Given the description of an element on the screen output the (x, y) to click on. 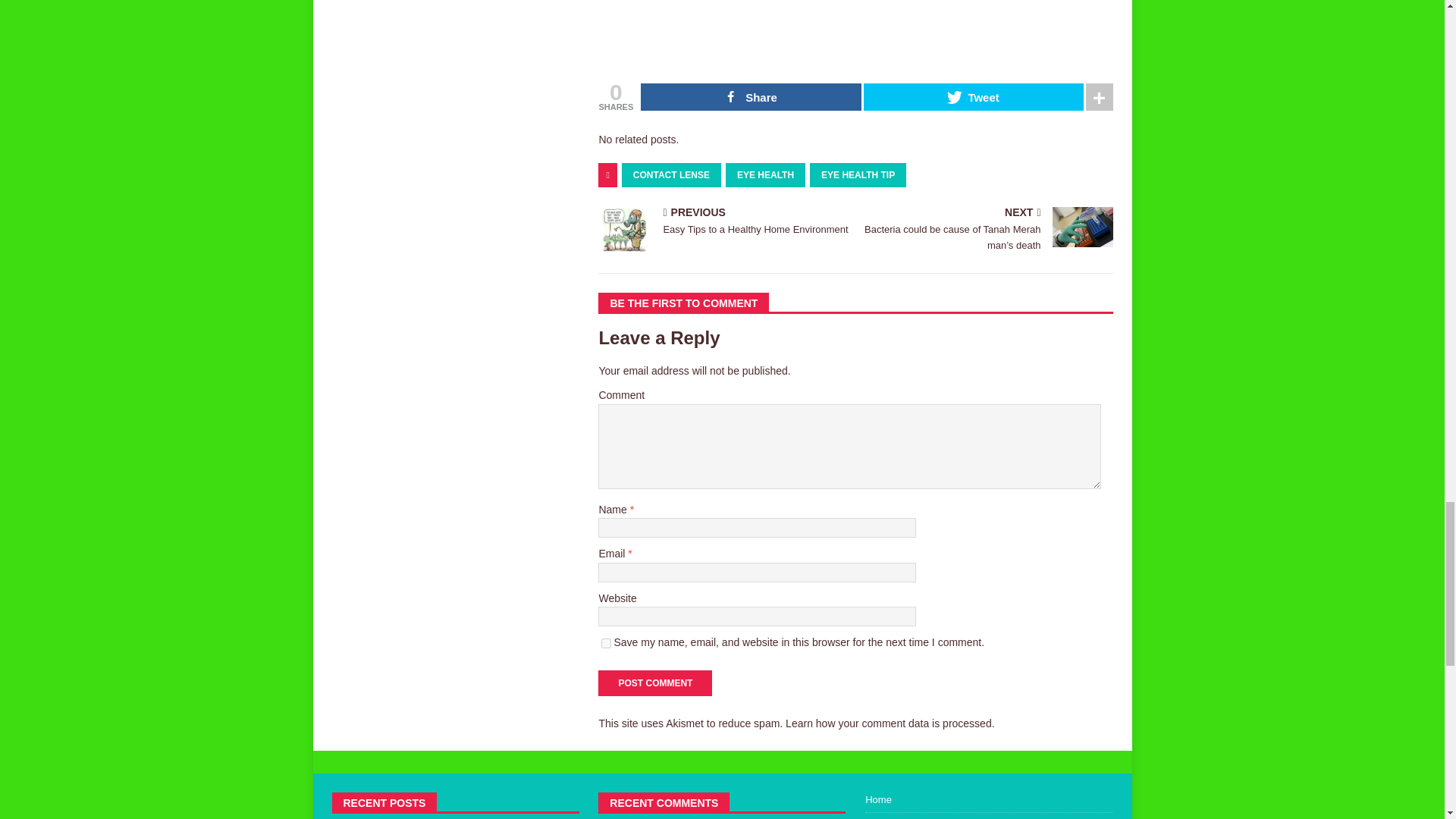
EYE HEALTH TIP (857, 174)
Learn how your comment data is processed (723, 222)
yes (888, 723)
EYE HEALTH (606, 643)
Post Comment (765, 174)
CONTACT LENSE (654, 683)
Share (670, 174)
Post Comment (750, 96)
Tweet (654, 683)
